Given the description of an element on the screen output the (x, y) to click on. 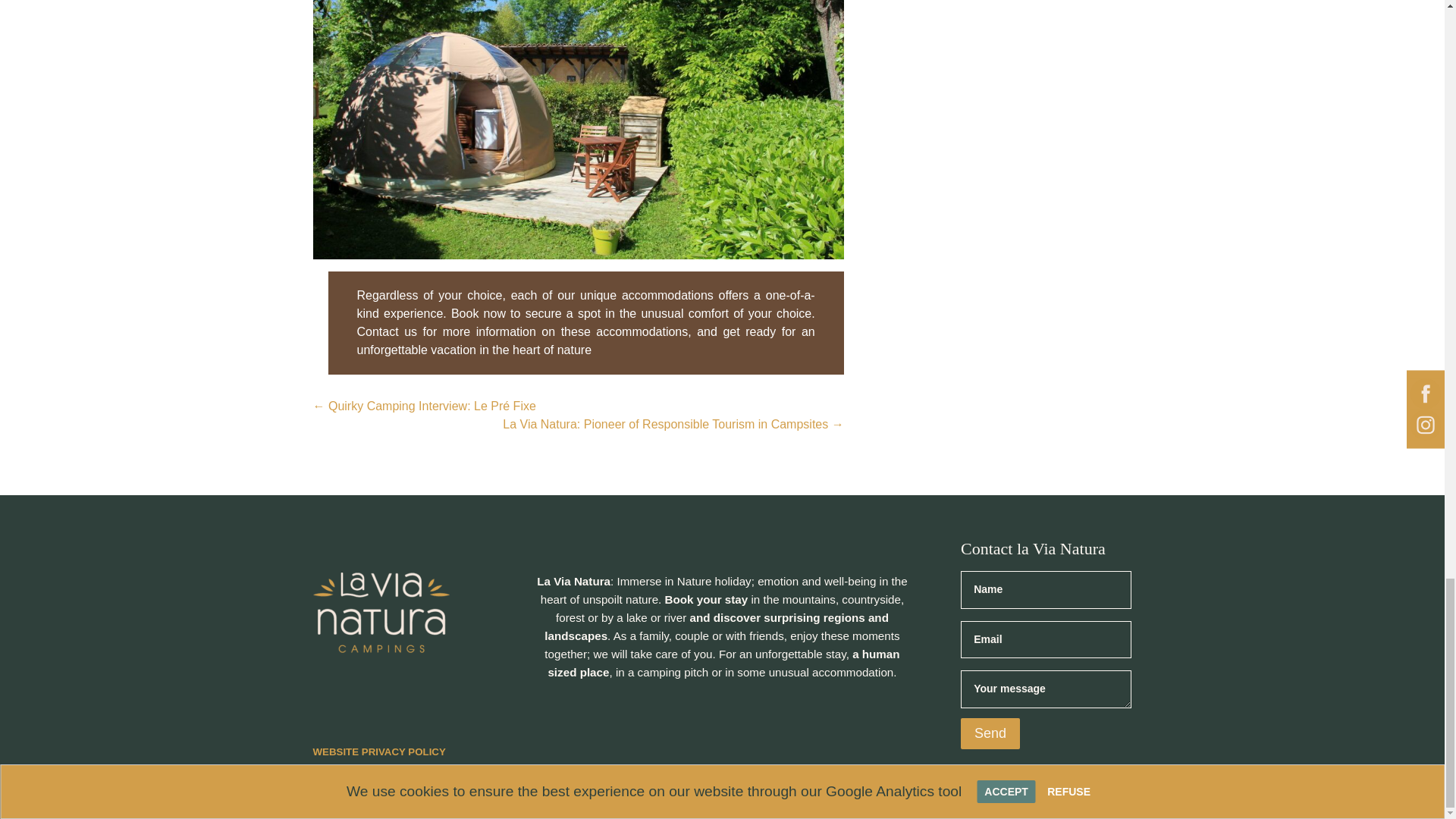
La Via Natura (380, 612)
WEBSITE PRIVACY POLICY (379, 754)
Website creation : Studio Ayanoumi (552, 771)
Send (990, 733)
